Given the description of an element on the screen output the (x, y) to click on. 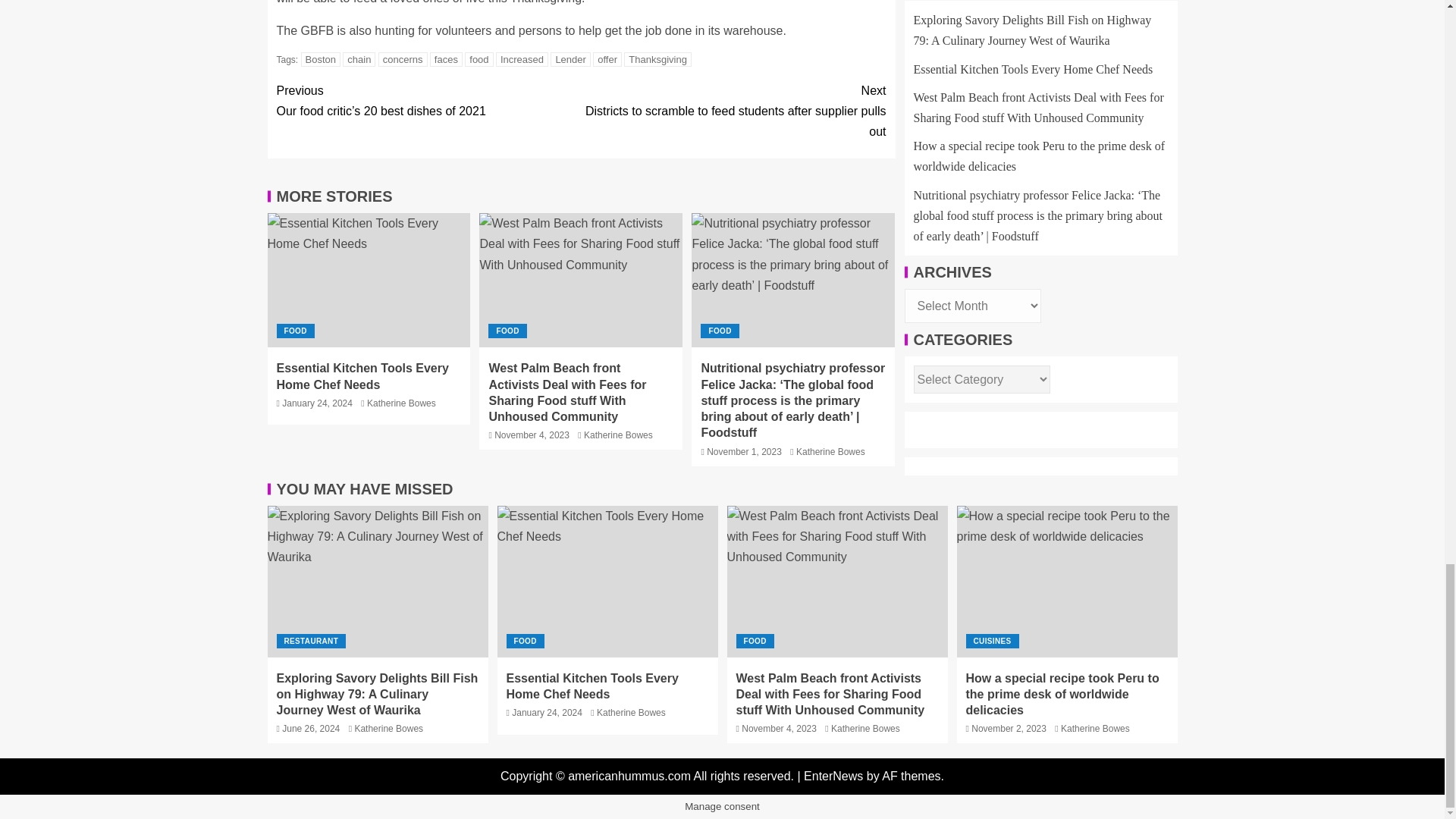
Lender (569, 59)
offer (606, 59)
chain (358, 59)
Boston (320, 59)
Increased (522, 59)
Katherine Bowes (400, 403)
Essential Kitchen Tools Every Home Chef Needs (362, 375)
food (478, 59)
